Given the description of an element on the screen output the (x, y) to click on. 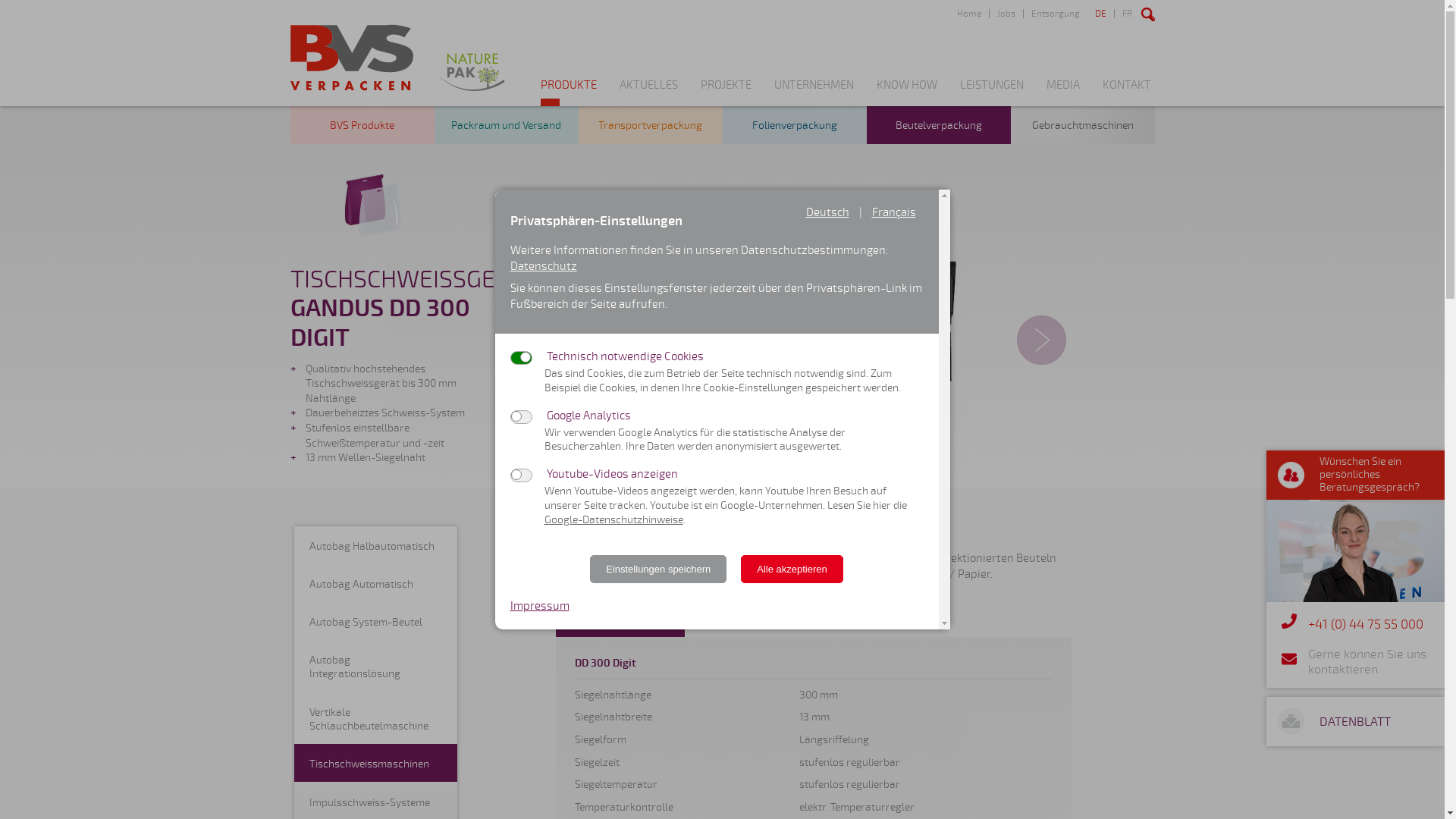
Einstellungen speichern Element type: text (657, 569)
Previous Element type: text (592, 340)
Jobs Element type: text (1005, 13)
Home Element type: text (968, 13)
Folienverpackung Element type: text (793, 125)
Entsorgung Element type: text (1054, 13)
Alle akzeptieren Element type: text (791, 569)
Transportverpackung Element type: text (649, 125)
Vertikale Schlauchbeutelmaschine Element type: text (375, 717)
UNTERNEHMEN Element type: text (813, 92)
PRODUKTE Element type: text (567, 92)
Autobag Automatisch Element type: text (375, 583)
Gebrauchtmaschinen Element type: text (1082, 125)
Packraum und Versand Element type: text (505, 125)
FR Element type: text (1126, 13)
BVS Produkte Element type: text (361, 125)
Beutelverpackung Element type: text (938, 125)
Datenschutz Element type: text (542, 266)
KONTAKT Element type: text (1126, 92)
LEISTUNGEN Element type: text (991, 92)
Tischschweissmaschinen Element type: text (375, 762)
Autobag Halbautomatisch Element type: text (375, 545)
DE Element type: text (1100, 13)
Autobag System-Beutel Element type: text (375, 621)
Impressum Element type: text (538, 605)
DATENBLATT Element type: text (1354, 721)
KNOW HOW Element type: text (906, 92)
Next Element type: text (1041, 340)
PROJEKTE Element type: text (725, 92)
Google-Datenschutzhinweise Element type: text (613, 519)
MEDIA Element type: text (1062, 92)
Technische Daten Element type: text (619, 618)
AKTUELLES Element type: text (647, 92)
Deutsch Element type: text (826, 212)
